Given the description of an element on the screen output the (x, y) to click on. 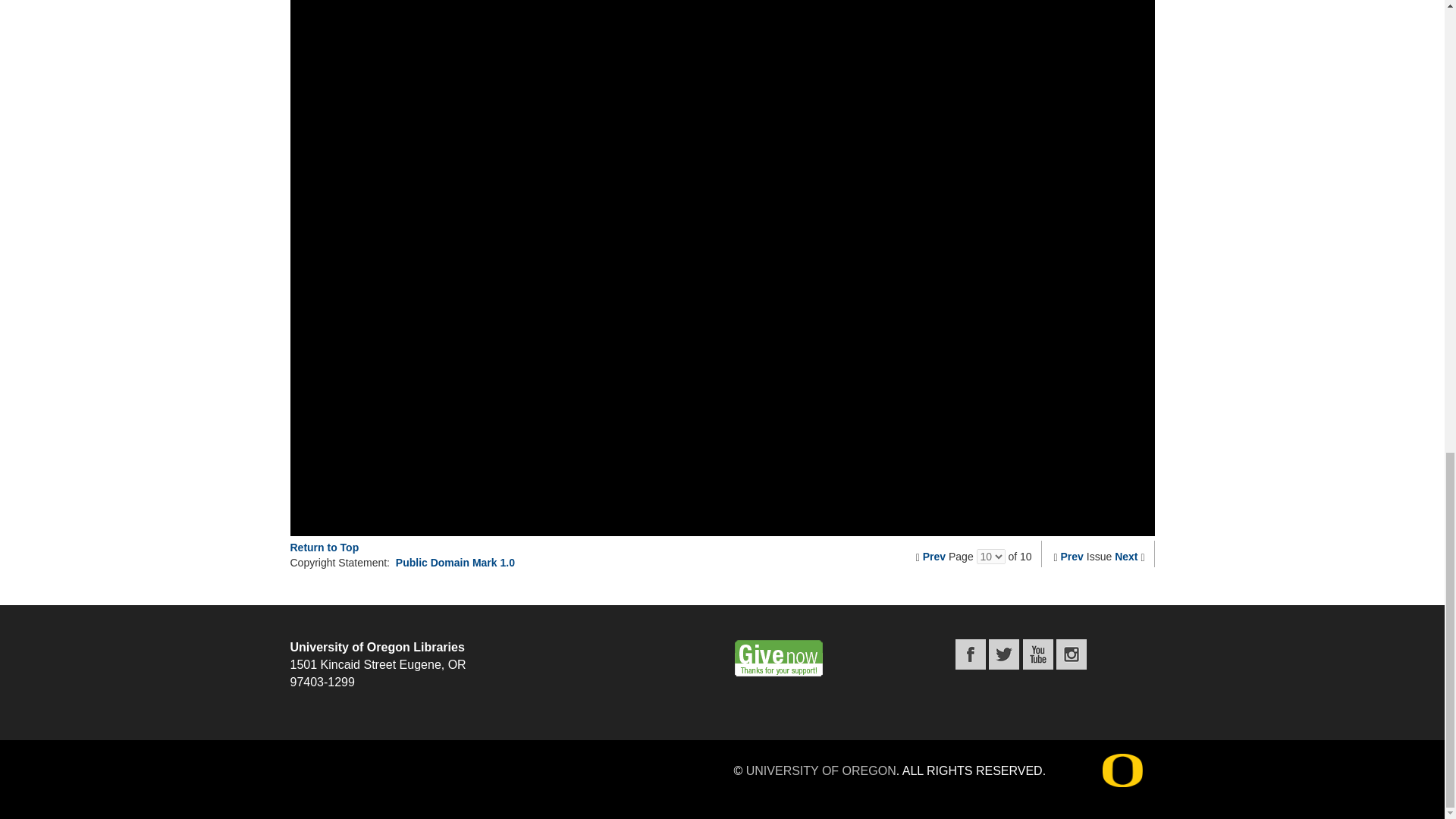
Next (1126, 556)
Prev (1072, 556)
Prev (933, 556)
Public Domain Mark 1.0 (455, 562)
Return to Top (323, 547)
